Given the description of an element on the screen output the (x, y) to click on. 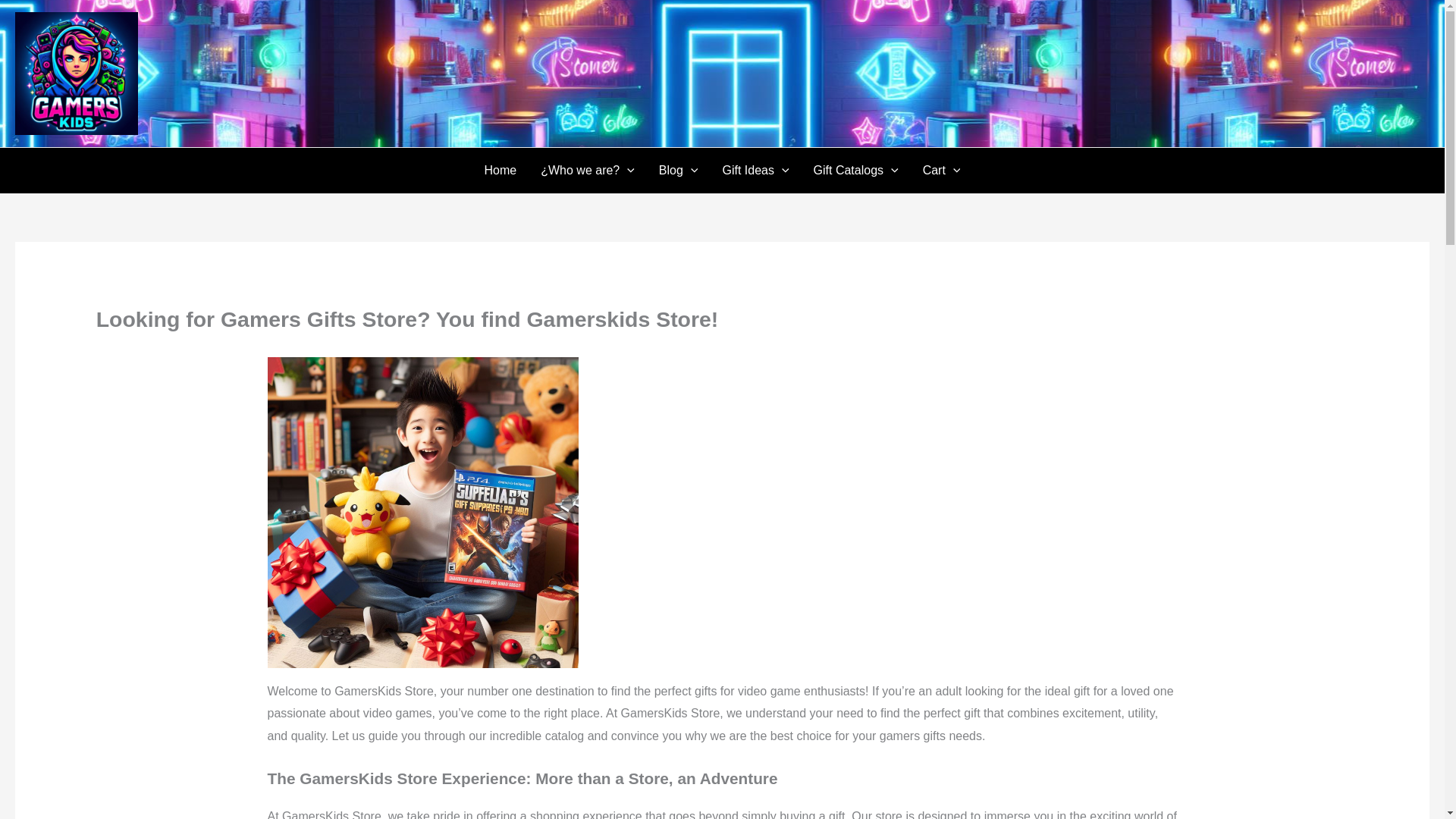
Blog (678, 170)
Gift Catalogs (856, 170)
Cart (941, 170)
Gift Ideas (755, 170)
Home (500, 170)
